Given the description of an element on the screen output the (x, y) to click on. 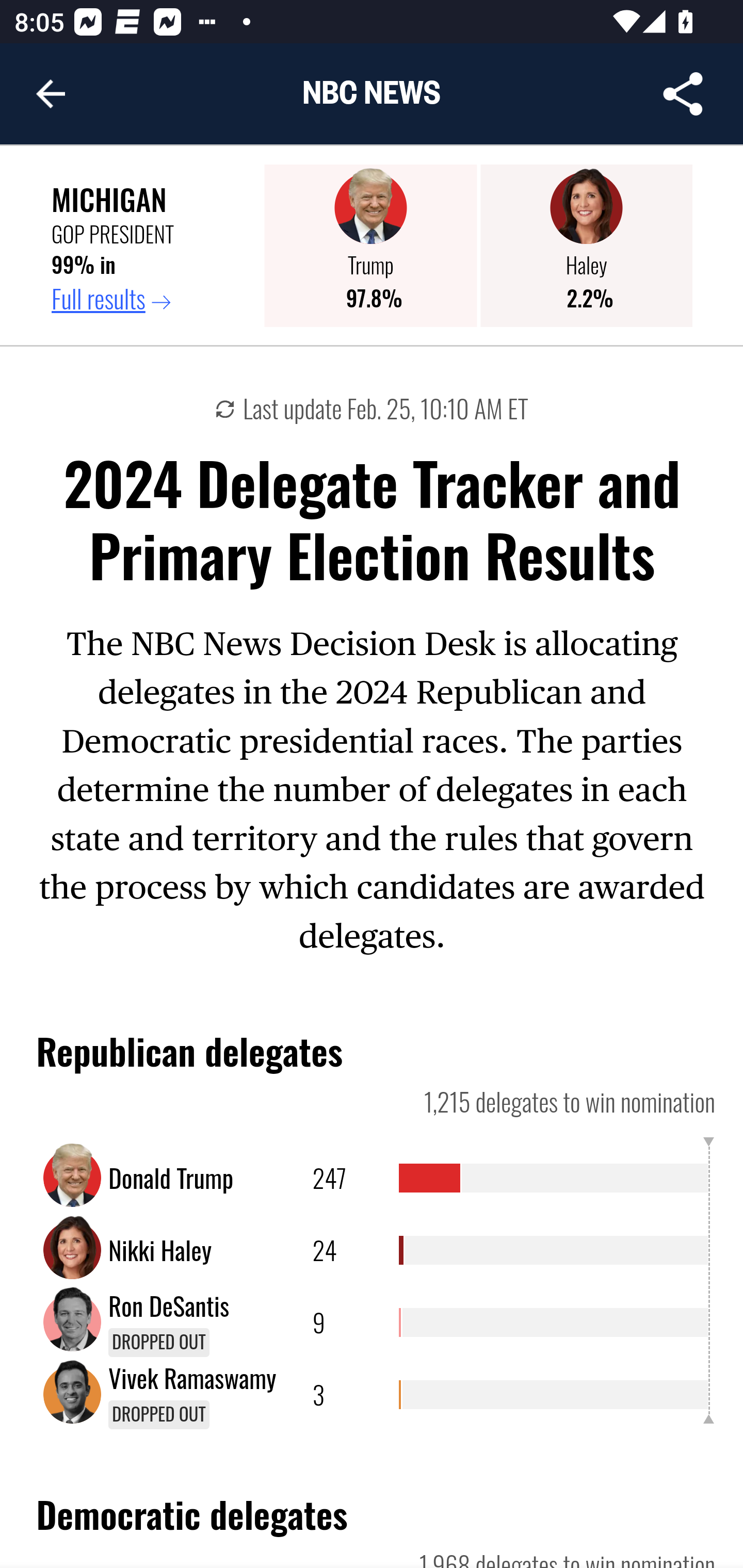
Navigate up (50, 93)
Share Article, button (683, 94)
Trump 97.8% Haley 2.2% Trump 97.8 % Haley 2.2 % (478, 246)
Full results (150, 298)
